Given the description of an element on the screen output the (x, y) to click on. 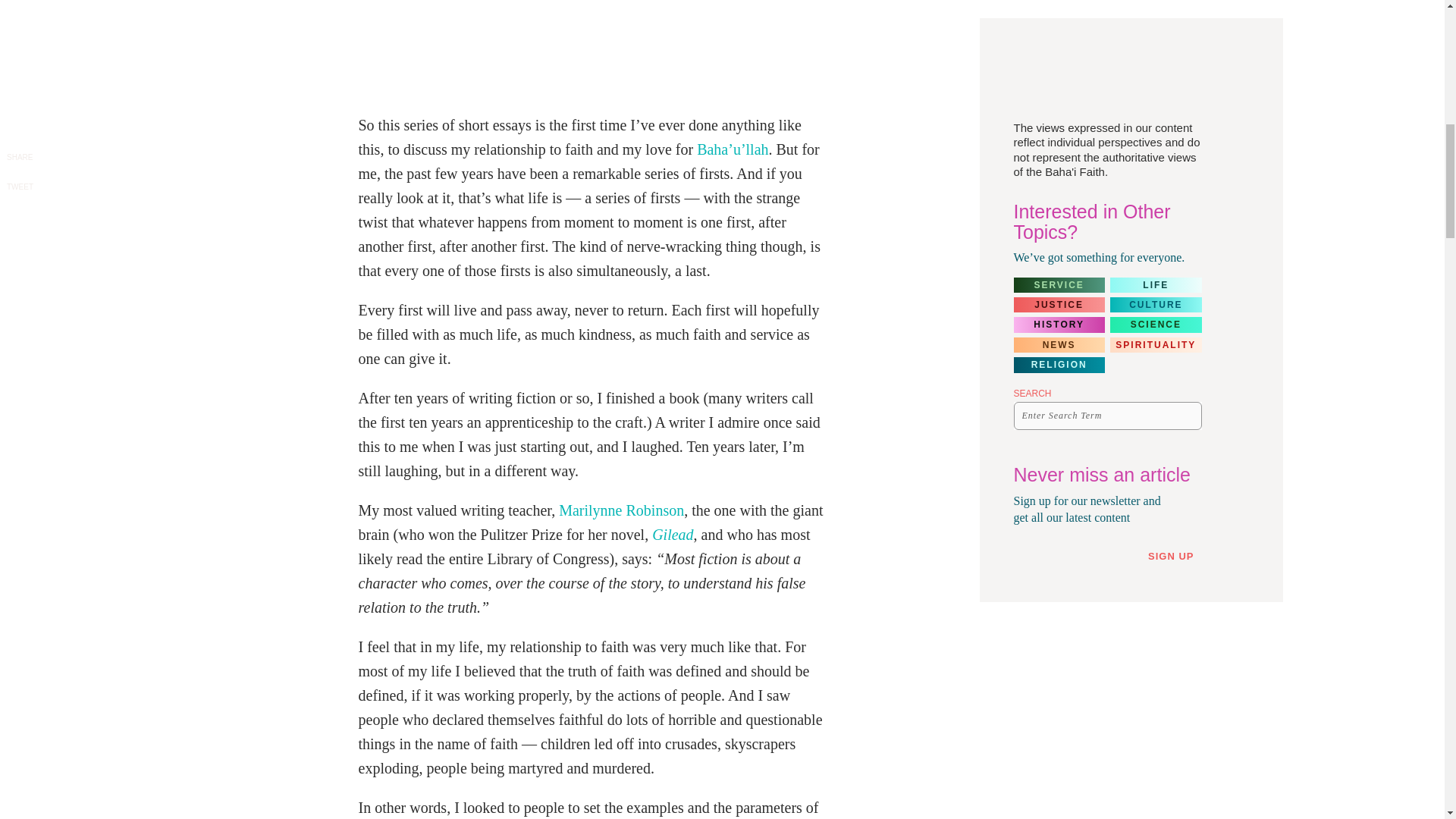
Share on Twitter (18, 174)
Search (1185, 415)
LIFE (1155, 284)
JUSTICE (1058, 304)
RELIGION (1058, 364)
Marilynne Robinson (621, 510)
Marilynne Robinson (621, 510)
HISTORY (1058, 324)
SCIENCE (1155, 324)
NEWS (1058, 344)
Search for: (1107, 415)
SERVICE (1058, 284)
Share on Facebook (19, 143)
Gilead by Marilynne Robinson (672, 534)
SPIRITUALITY (1155, 344)
